Given the description of an element on the screen output the (x, y) to click on. 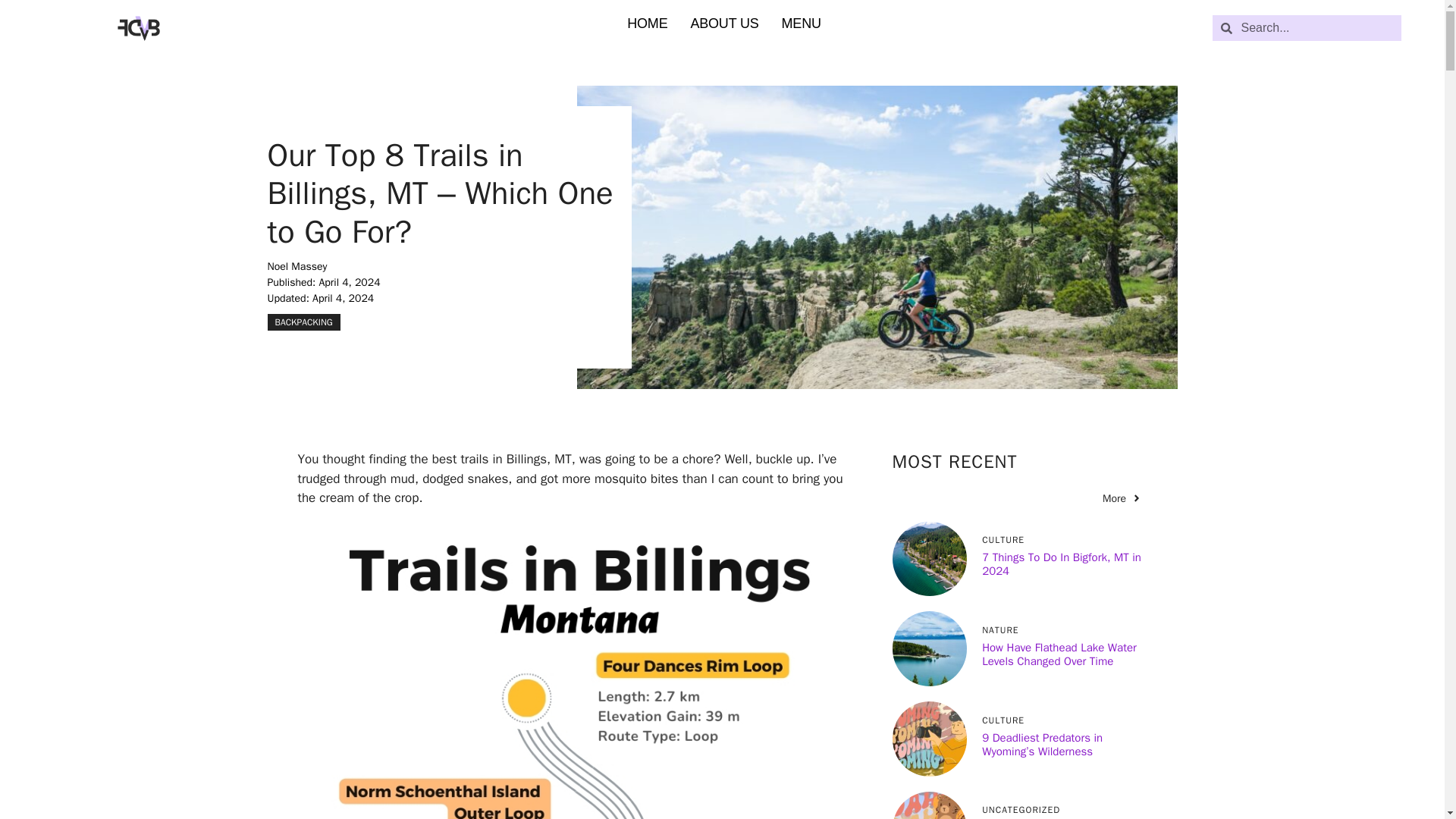
BACKPACKING (302, 321)
Noel Massey (296, 266)
